Given the description of an element on the screen output the (x, y) to click on. 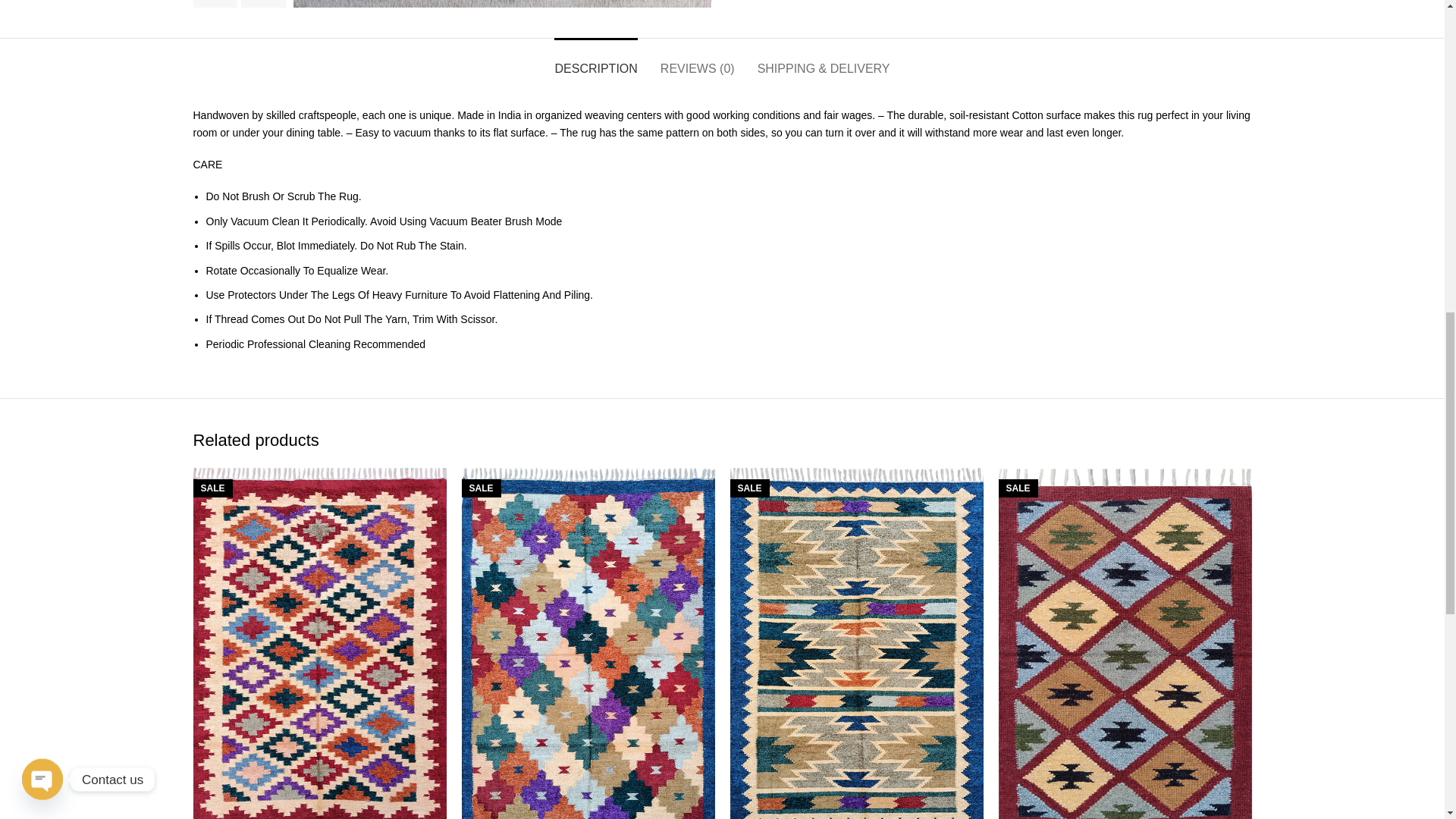
71 (501, 3)
